Given the description of an element on the screen output the (x, y) to click on. 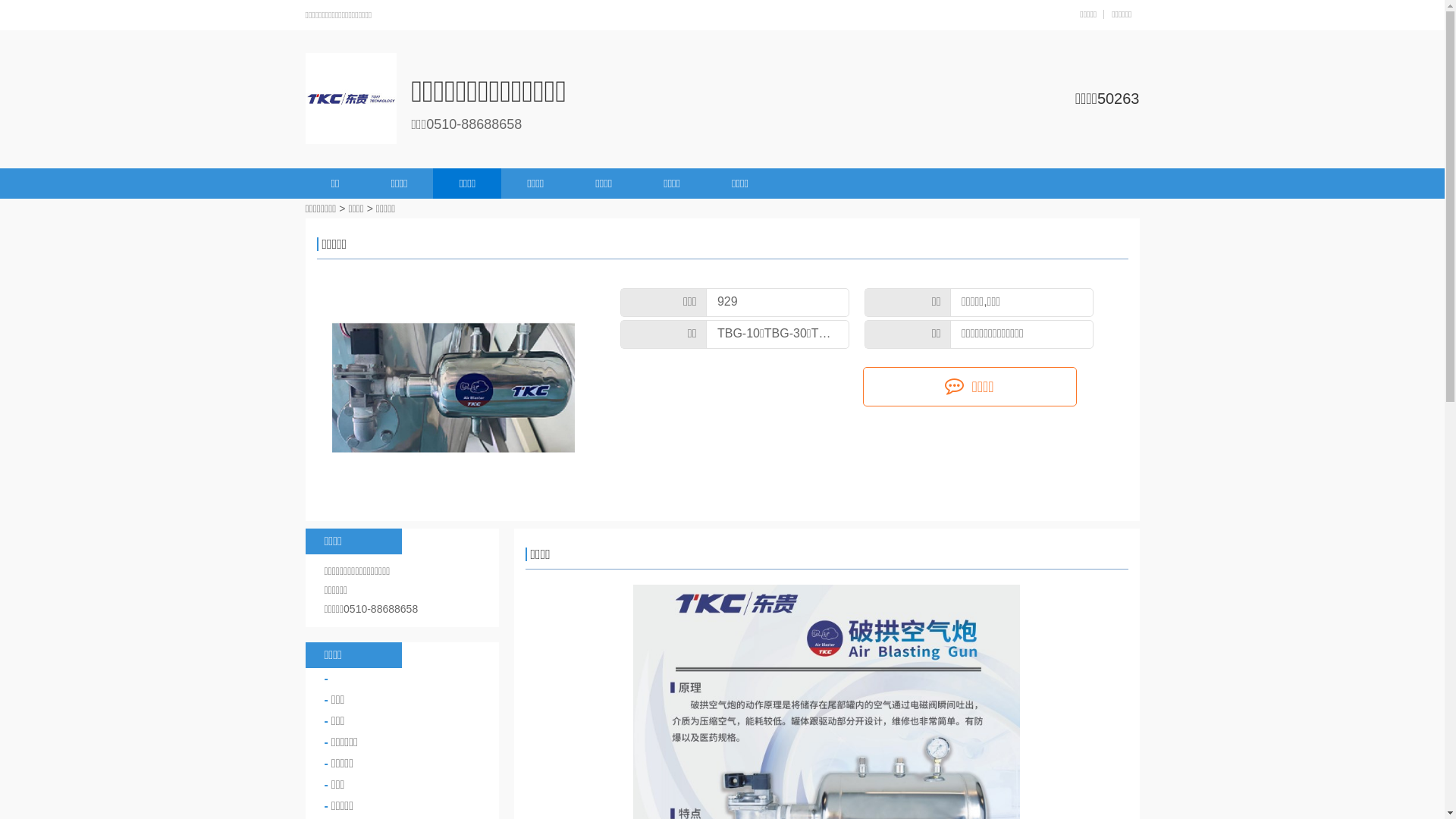
- Element type: text (401, 678)
